Given the description of an element on the screen output the (x, y) to click on. 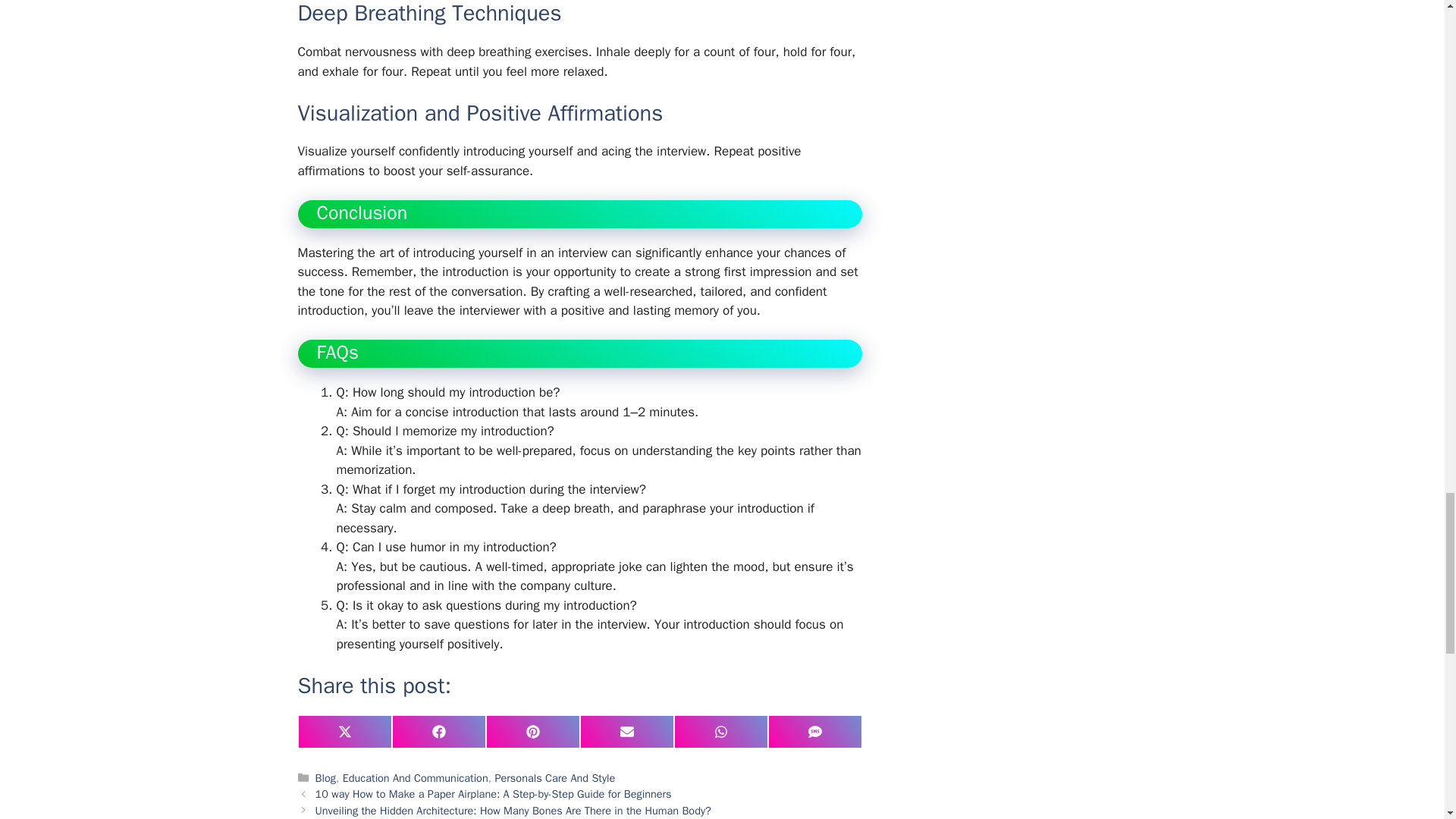
Share on WhatsApp (719, 731)
Share on Email (625, 731)
Share on Facebook (437, 731)
Share on Pinterest (531, 731)
Share on SMS (814, 731)
